Given the description of an element on the screen output the (x, y) to click on. 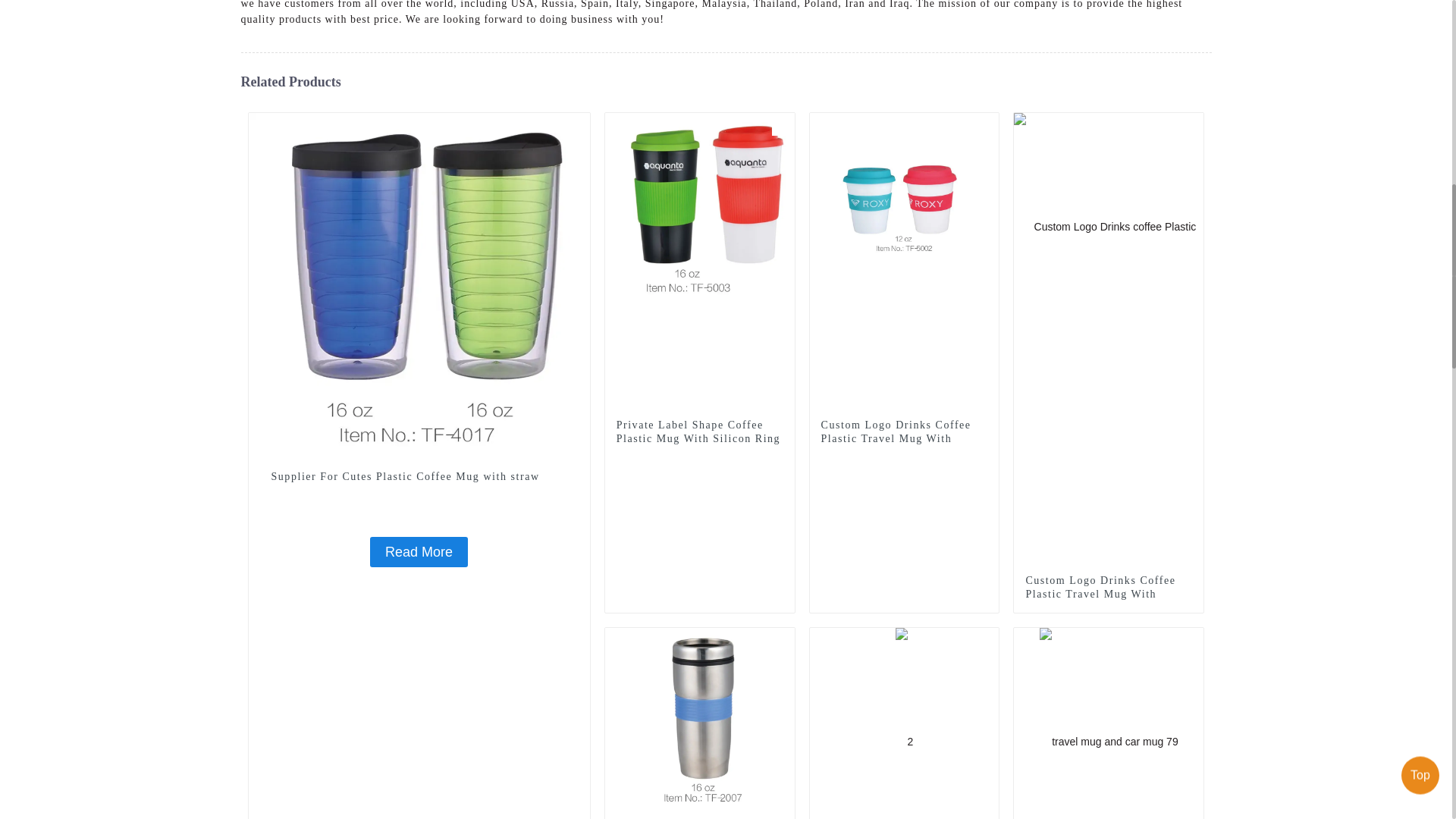
Supplier For Cutes Plastic Coffee Mug with straw (418, 477)
Private Label Shape Coffee Plastic Mug With Silicon Ring (699, 298)
Supplier For Cutes Plastic Coffee Mug with straw (418, 450)
Supplier For Cutes Plastic Coffee Mug with straw1 (578, 124)
Supplier For Cutes Plastic Coffee Mug with straw (418, 552)
